Given the description of an element on the screen output the (x, y) to click on. 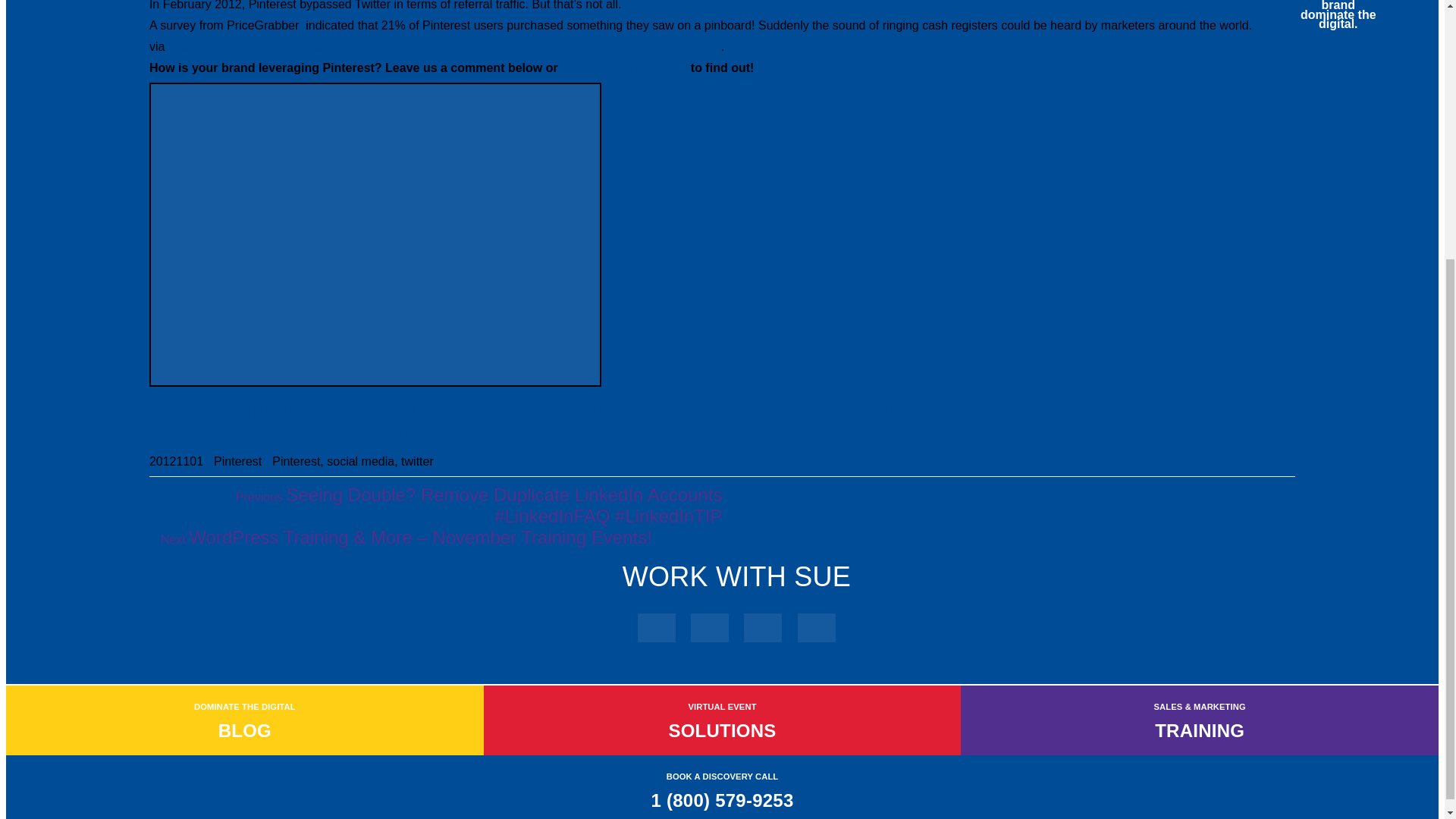
Weekend Social Media Bootcamp (1078, 409)
follow us on Pinterest (623, 67)
AWTW Pinterest (623, 67)
Weekend Social Media Bootcamp (1078, 409)
20121101 (176, 461)
Pinterest (238, 461)
